Given the description of an element on the screen output the (x, y) to click on. 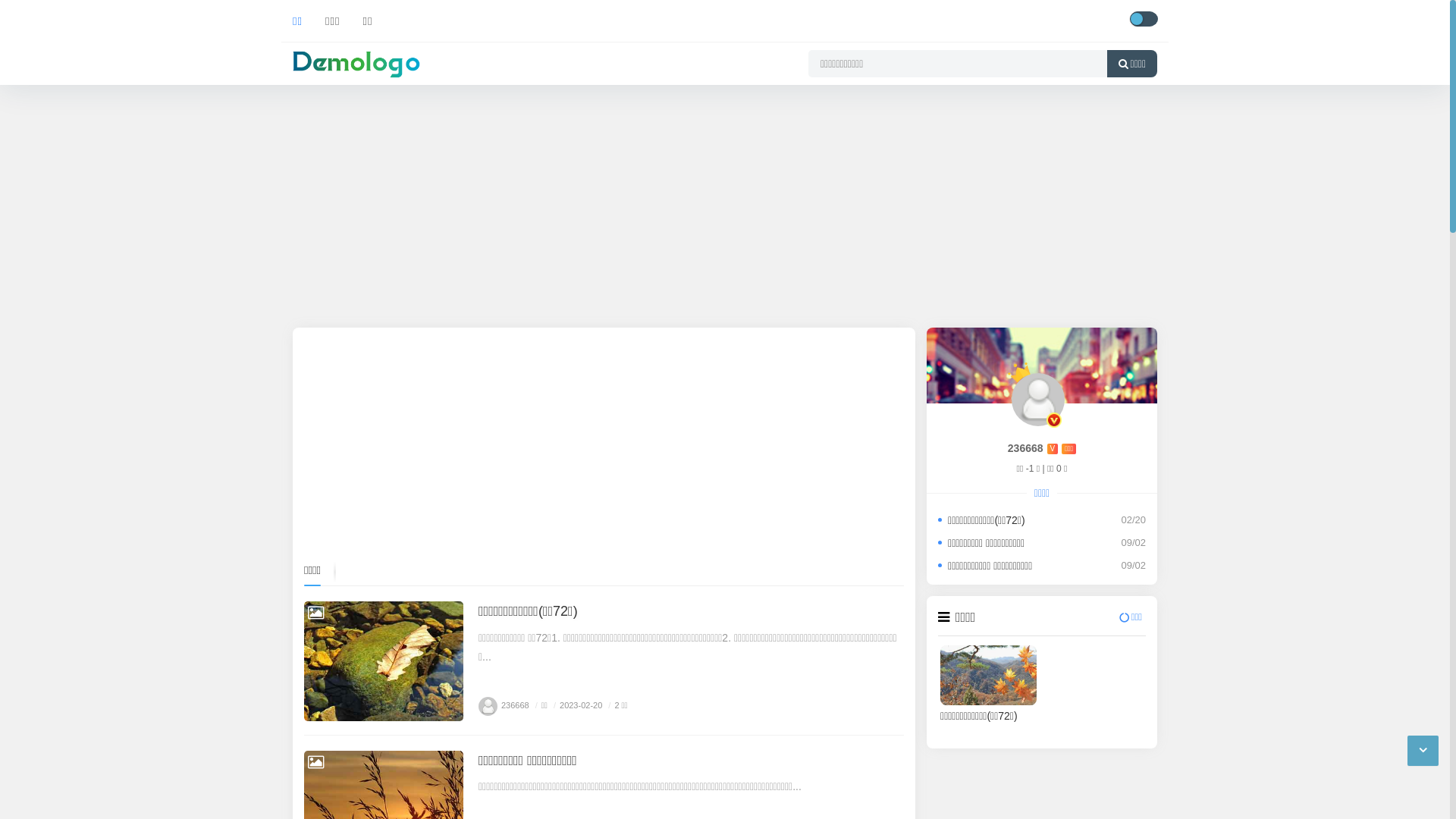
236668 Element type: text (503, 704)
Advertisement Element type: hover (724, 206)
Advertisement Element type: hover (603, 444)
